Given the description of an element on the screen output the (x, y) to click on. 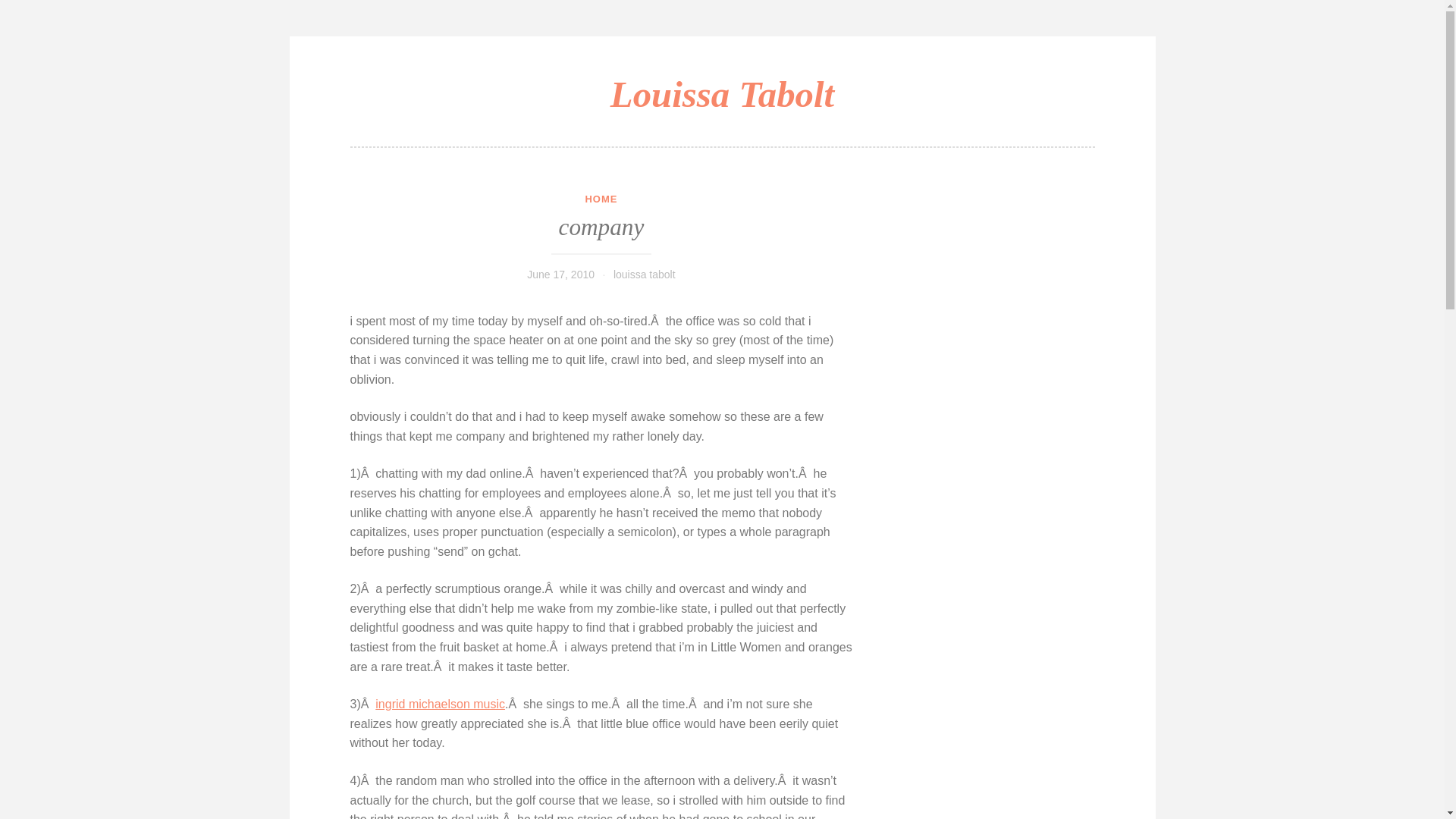
ingrid michaelson music (440, 703)
Louissa Tabolt (722, 94)
June 17, 2010 (560, 274)
HOME (601, 198)
louissa tabolt (643, 274)
